Given the description of an element on the screen output the (x, y) to click on. 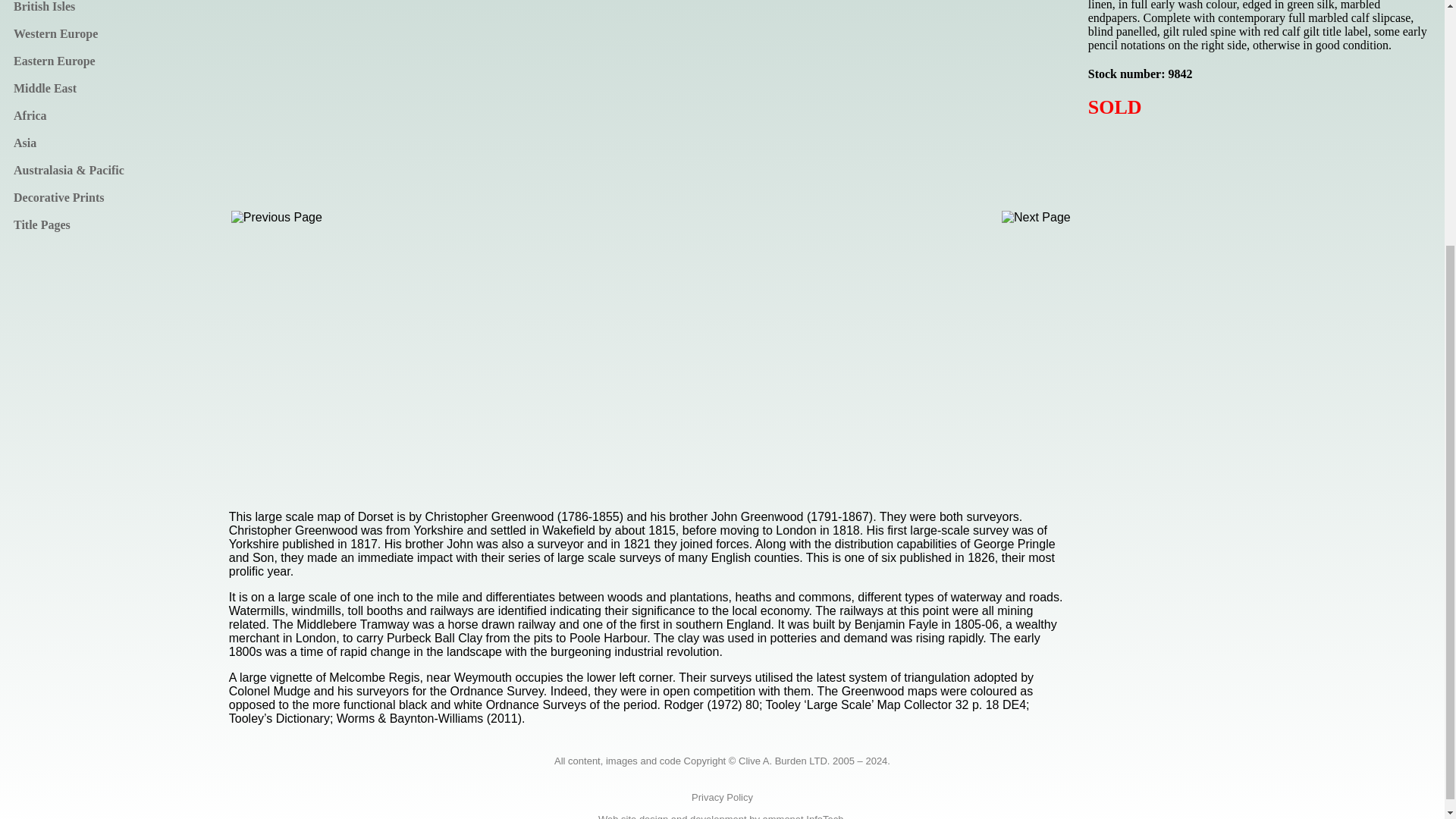
British Isles (113, 6)
